Given the description of an element on the screen output the (x, y) to click on. 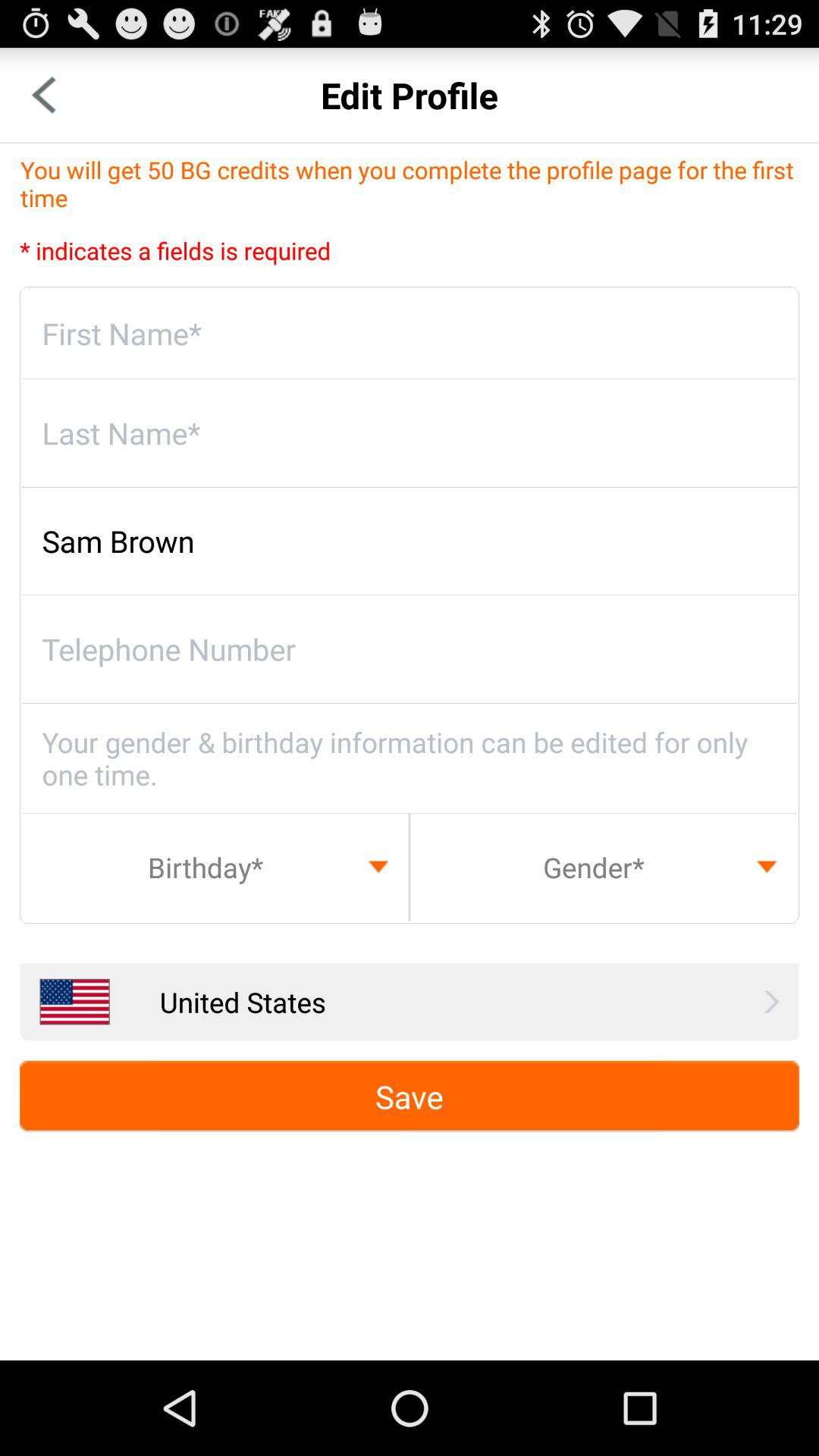
enter a text (409, 333)
